Given the description of an element on the screen output the (x, y) to click on. 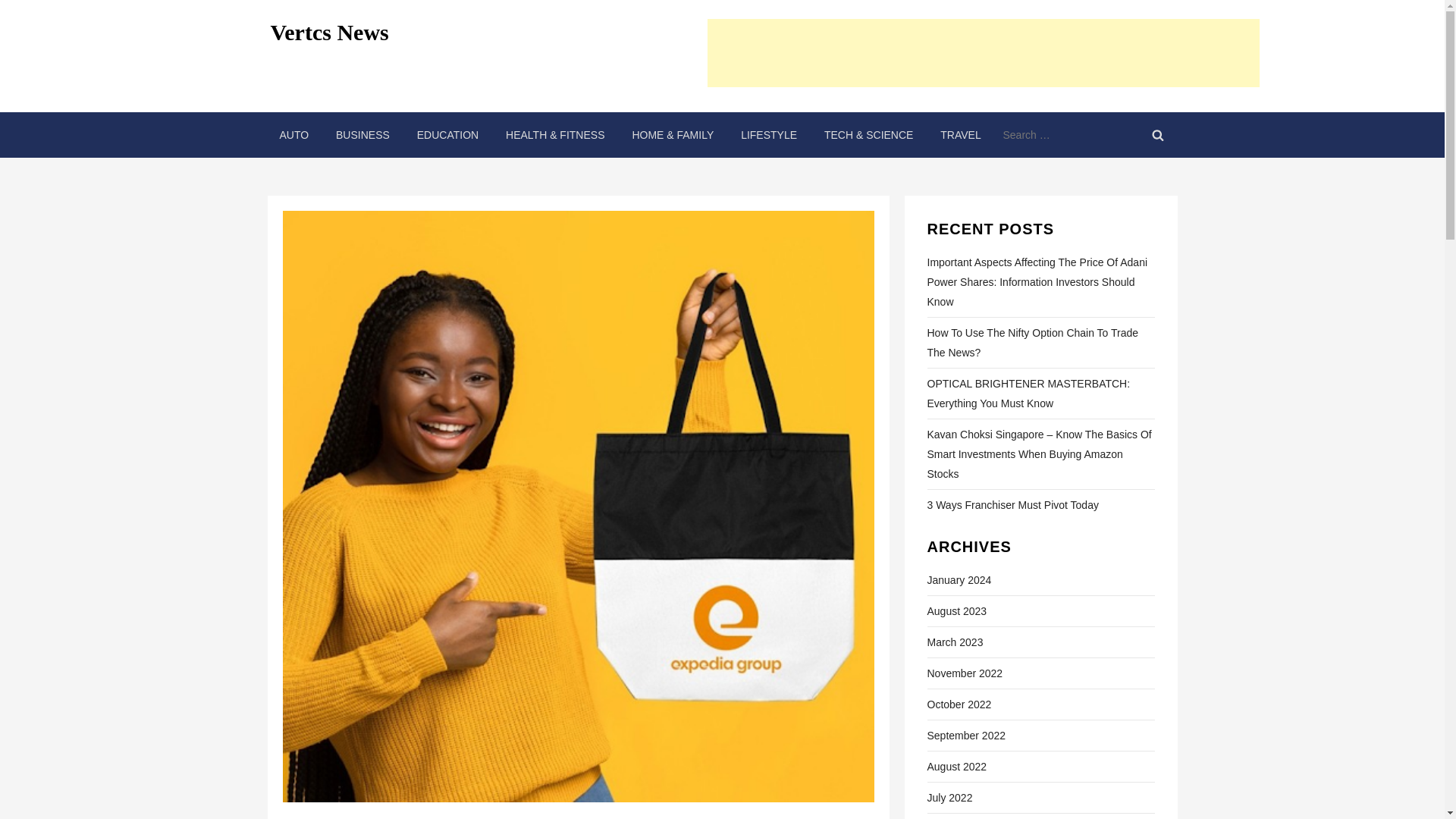
Vertcs News (328, 32)
August 2023 (956, 610)
How To Use The Nifty Option Chain To Trade The News? (1040, 342)
TRAVEL (960, 135)
January 2024 (958, 579)
November 2022 (964, 673)
EDUCATION (447, 135)
AUTO (293, 135)
August 2022 (956, 766)
